Given the description of an element on the screen output the (x, y) to click on. 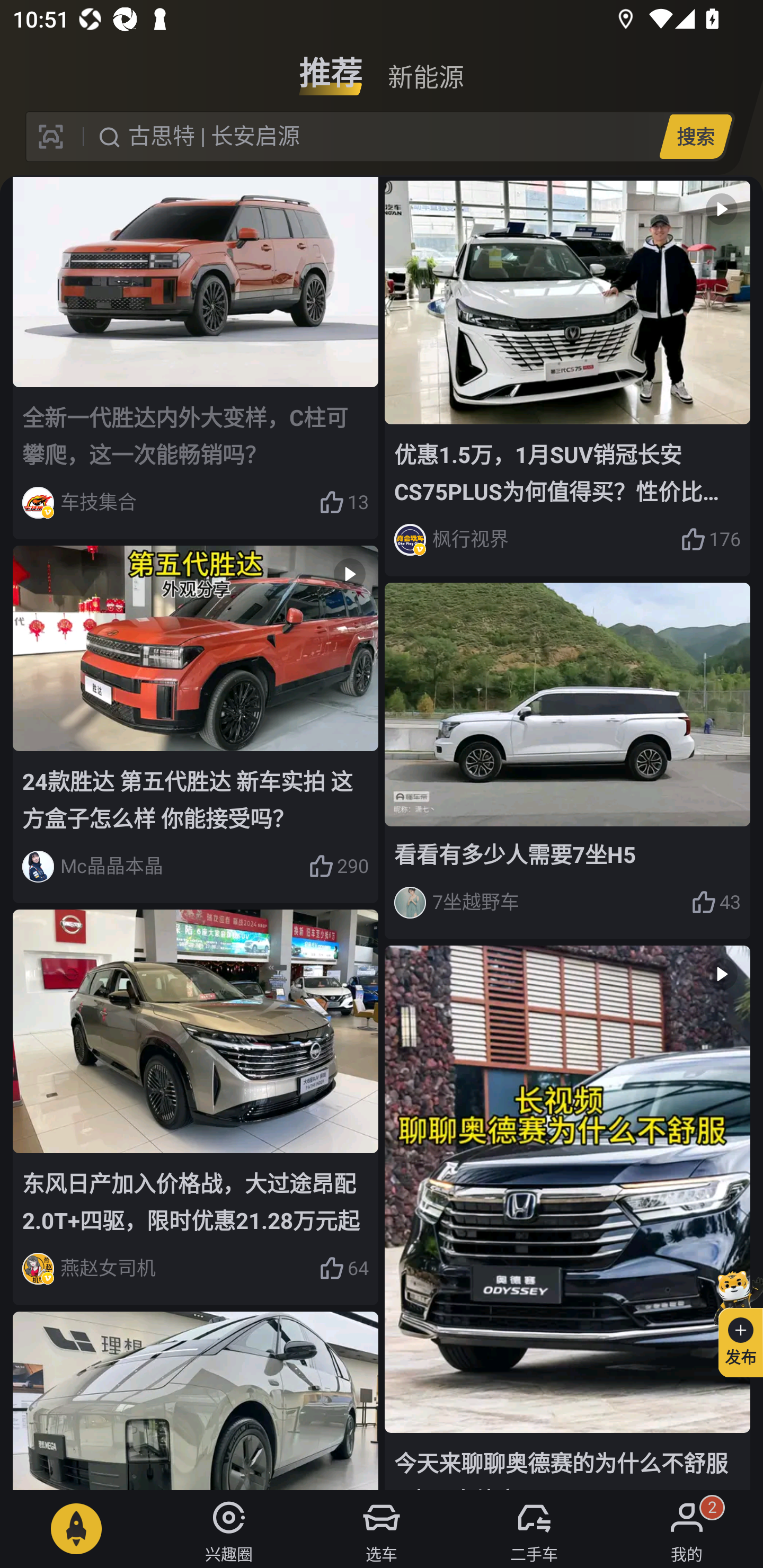
推荐 (330, 65)
新能源 (425, 65)
搜索 (695, 136)
全新一代胜达内外大变样，C柱可攀爬，这一次能畅销吗？ 车技集合 13 (195, 358)
 优惠1.5万，1月SUV销冠长安CS75PLUS为何值得买？性价比是亮点！ 枫行视界 176 (567, 378)
13 (343, 502)
176 (710, 538)
 24款胜达 第五代胜达 新车实拍 这方盒子怎么样 你能接受吗？ Mc晶晶本晶 290 (195, 724)
看看有多少人需要7坐H5 7坐越野车 43 (567, 761)
290 (338, 866)
43 (715, 902)
东风日产加入价格战，大过途昂配2.0T+四驱，限时优惠21.28万元起 燕赵女司机 64 (195, 1106)
 今天来聊聊奥德赛的为什么不舒服#本田奥德赛 (567, 1217)
64 (343, 1268)
发布 (732, 1321)
 兴趣圈 (228, 1528)
 选车 (381, 1528)
 二手车 (533, 1528)
 我的 (686, 1528)
